Given the description of an element on the screen output the (x, y) to click on. 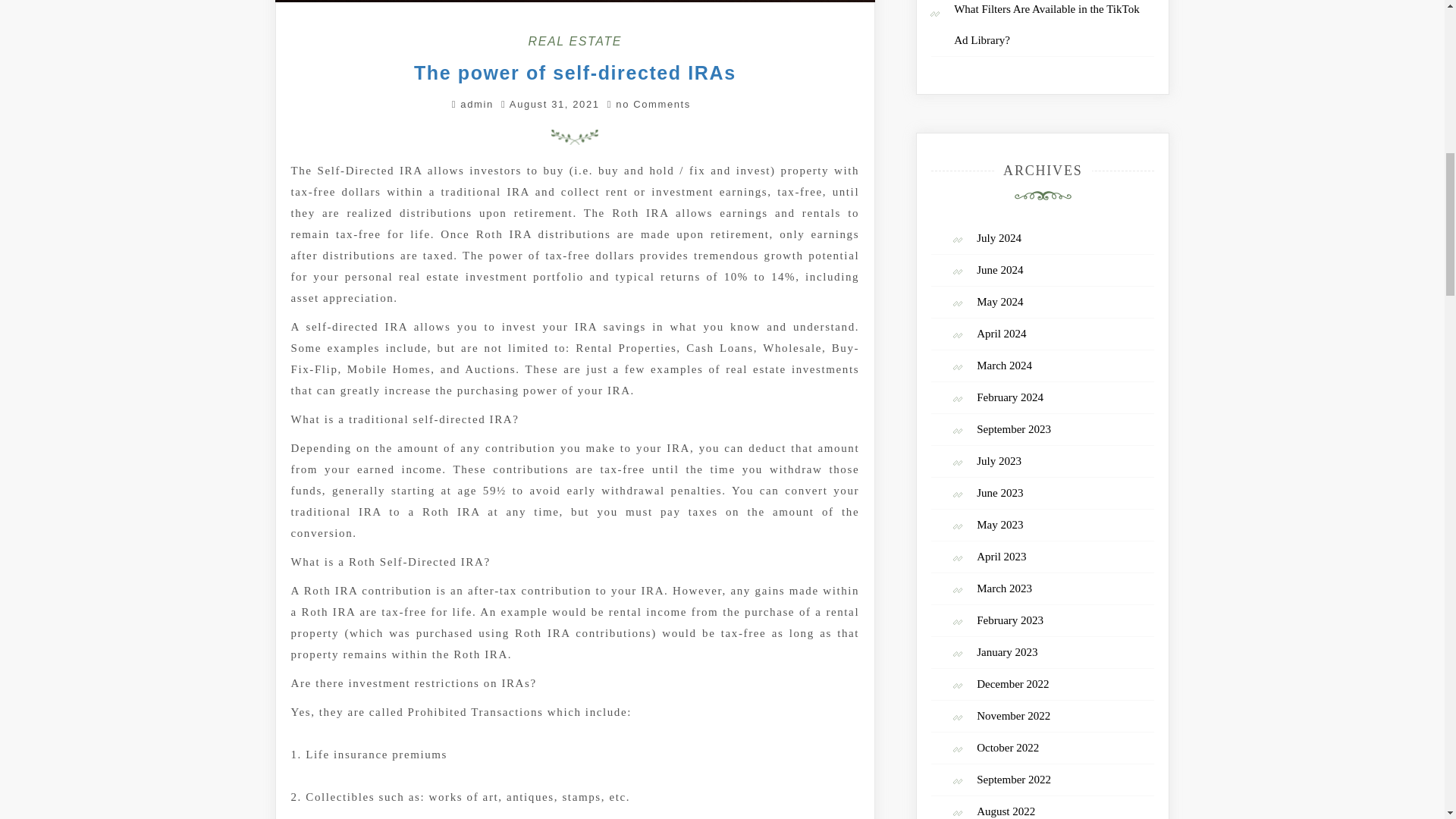
REAL ESTATE (574, 41)
August 31, 2021 (554, 103)
June 2024 (999, 269)
April 2024 (1001, 333)
July 2024 (999, 237)
What Filters Are Available in the TikTok Ad Library? (1045, 24)
admin (476, 103)
May 2024 (999, 301)
Posts by admin (476, 103)
no Comments (648, 103)
The power of self-directed IRAs (574, 72)
